Given the description of an element on the screen output the (x, y) to click on. 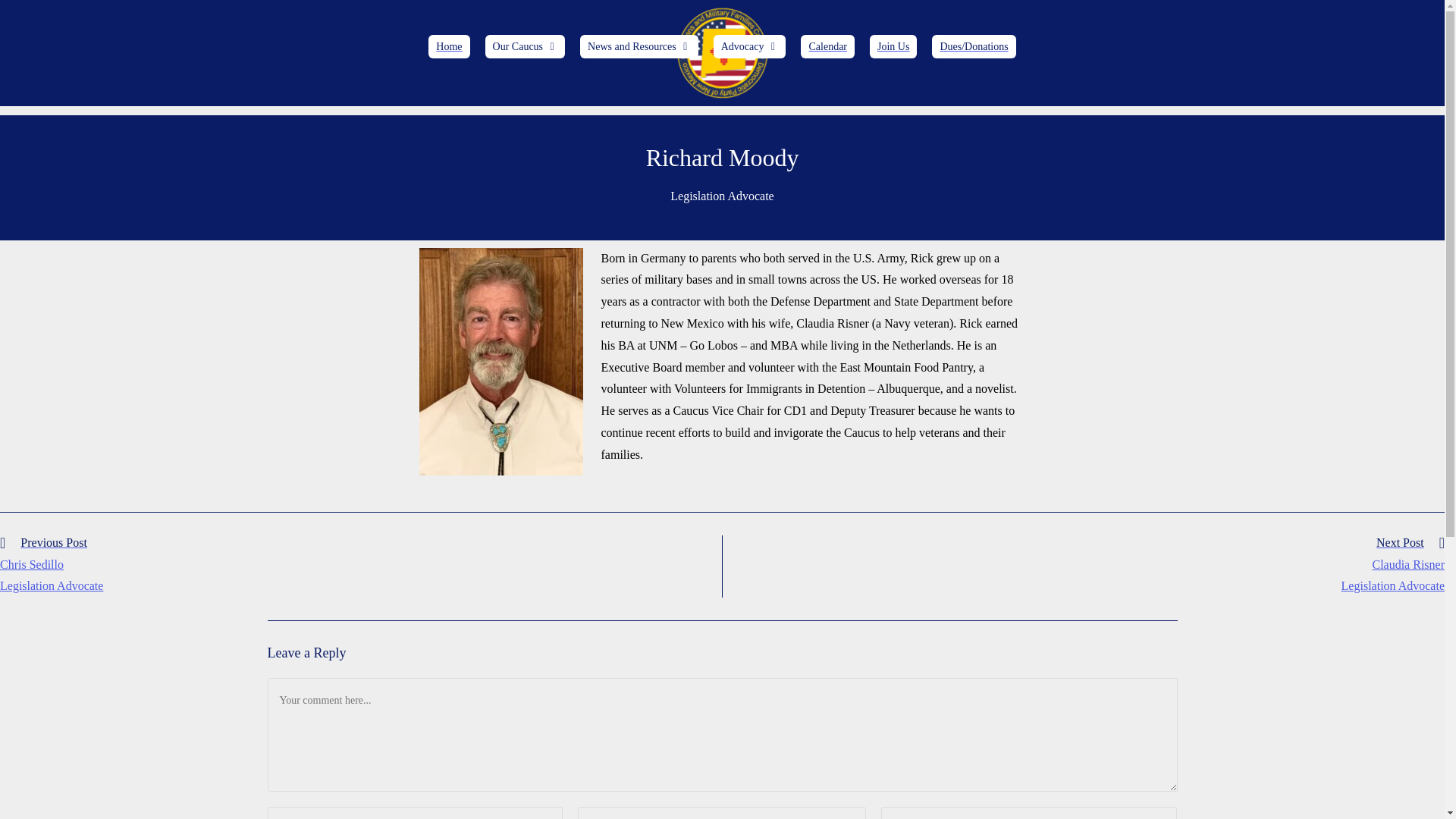
Home (448, 46)
